Given the description of an element on the screen output the (x, y) to click on. 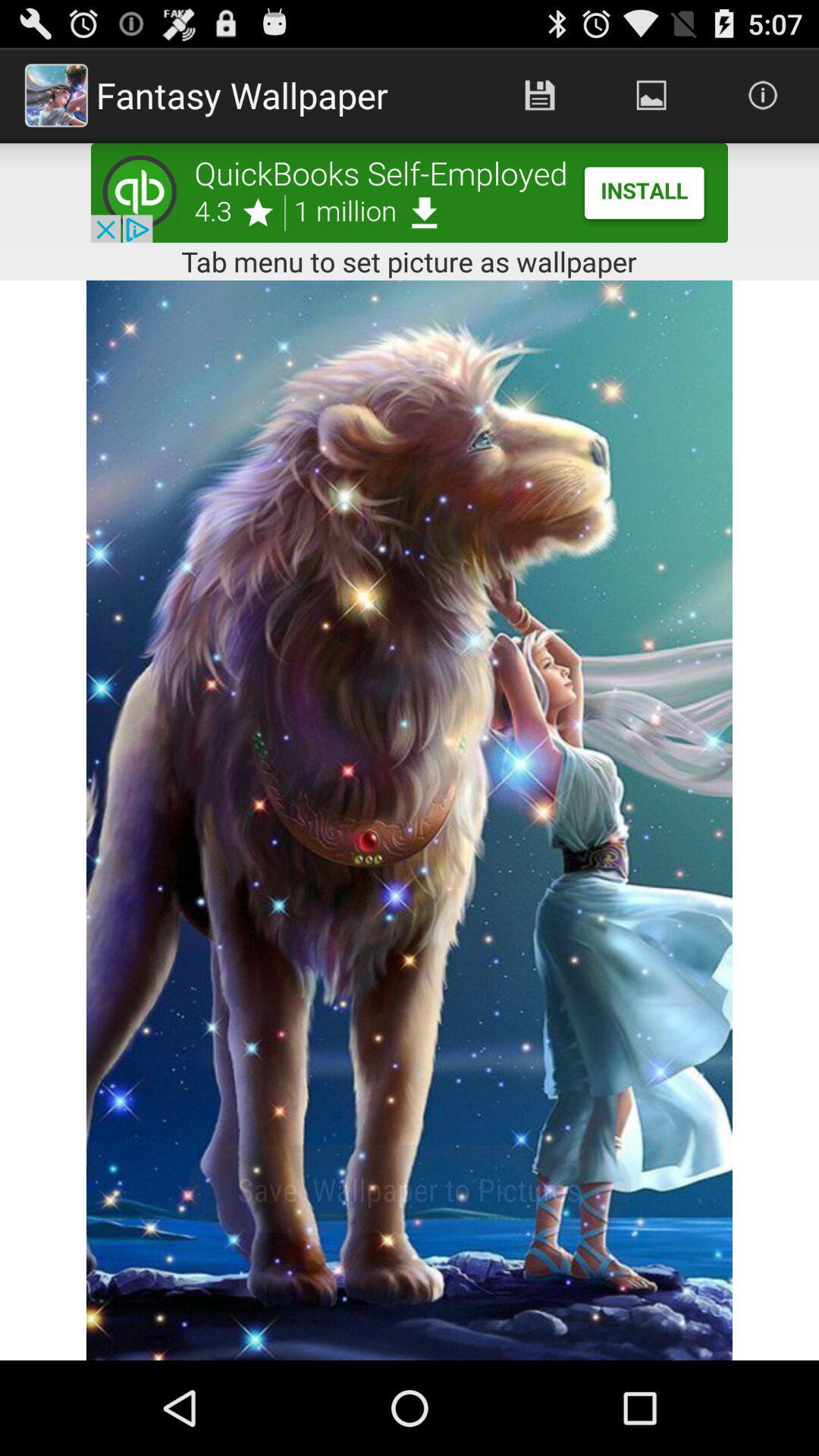
advertisement portion (409, 192)
